Given the description of an element on the screen output the (x, y) to click on. 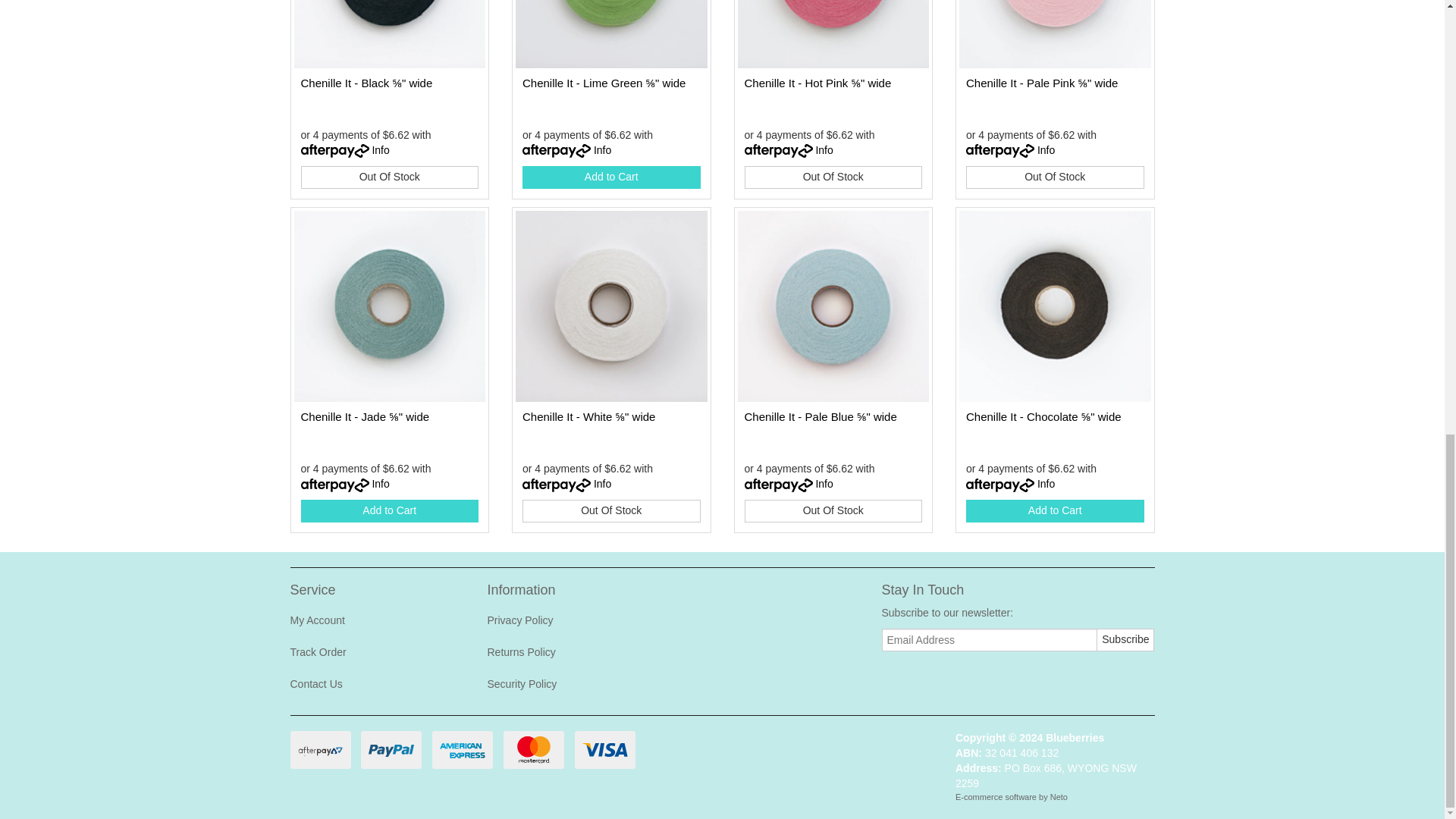
Notify Me When Back In Stock (833, 510)
Subscribe (1125, 639)
Notify Me When Back In Stock (611, 510)
Add to Cart (611, 177)
Notify Me When Back In Stock (1055, 177)
Notify Me When Back In Stock (833, 177)
Notify Me When Back In Stock (389, 177)
Add to Cart (389, 510)
